Given the description of an element on the screen output the (x, y) to click on. 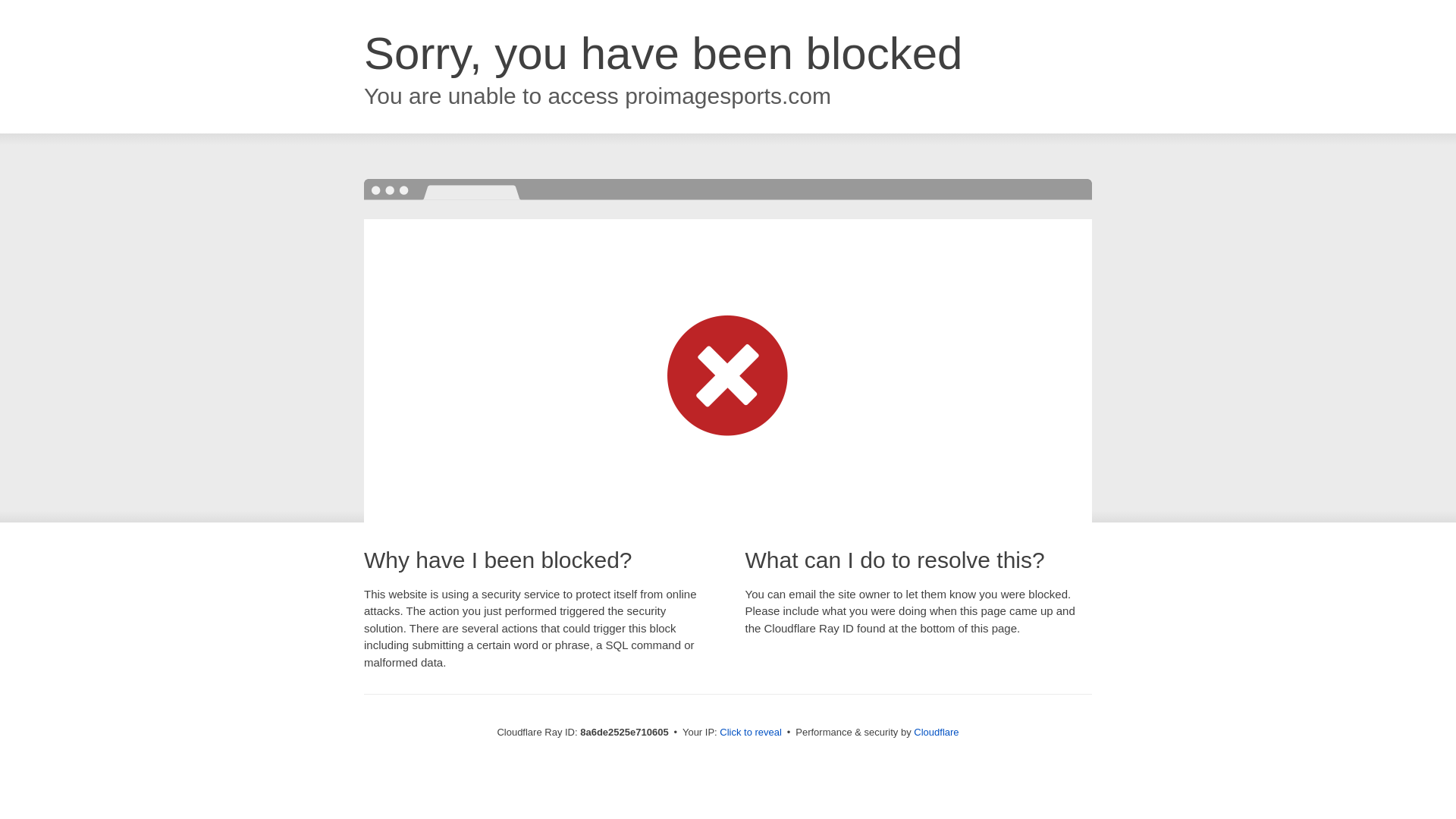
Click to reveal (750, 732)
Cloudflare (936, 731)
